Given the description of an element on the screen output the (x, y) to click on. 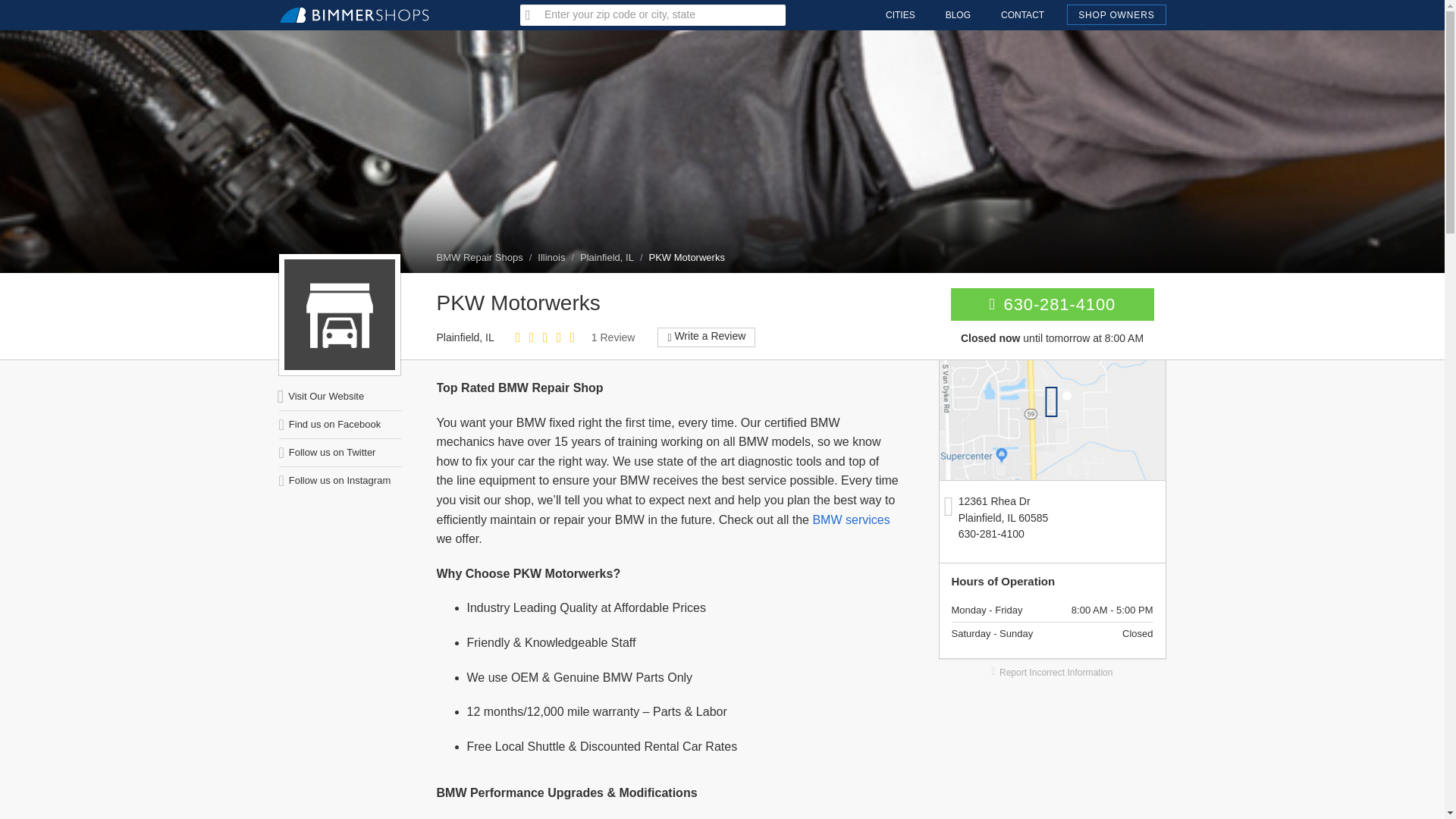
BMW services (850, 519)
BLOG (957, 15)
Report Incorrect Information (1052, 671)
PKW Motorwerks (687, 256)
SHOP OWNERS (1116, 14)
PKW Motorwerks (1052, 419)
CONTACT (1022, 15)
BimmerShops (354, 7)
Plainfield, IL (606, 256)
PKW Motorwerks (338, 314)
